Given the description of an element on the screen output the (x, y) to click on. 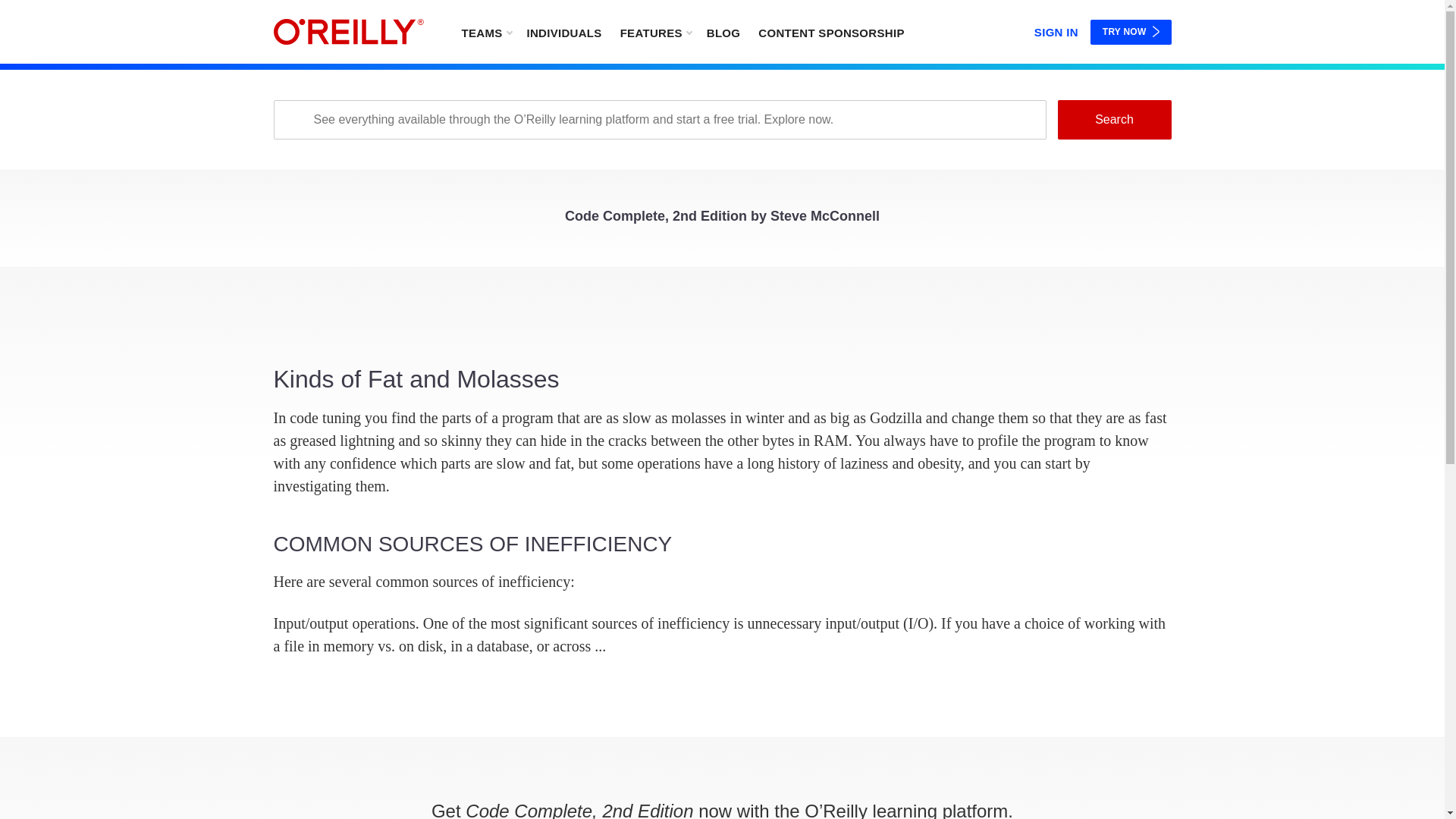
Search (1113, 119)
CONTENT SPONSORSHIP (831, 31)
Search (1113, 119)
FEATURES (655, 31)
SIGN IN (1055, 29)
INDIVIDUALS (563, 31)
Code Complete, 2nd Edition by Steve McConnell (721, 219)
BLOG (723, 31)
home page (348, 31)
Search (1113, 119)
TEAMS (486, 31)
TRY NOW (1131, 32)
Common Sources of Inefficiency (721, 593)
